Given the description of an element on the screen output the (x, y) to click on. 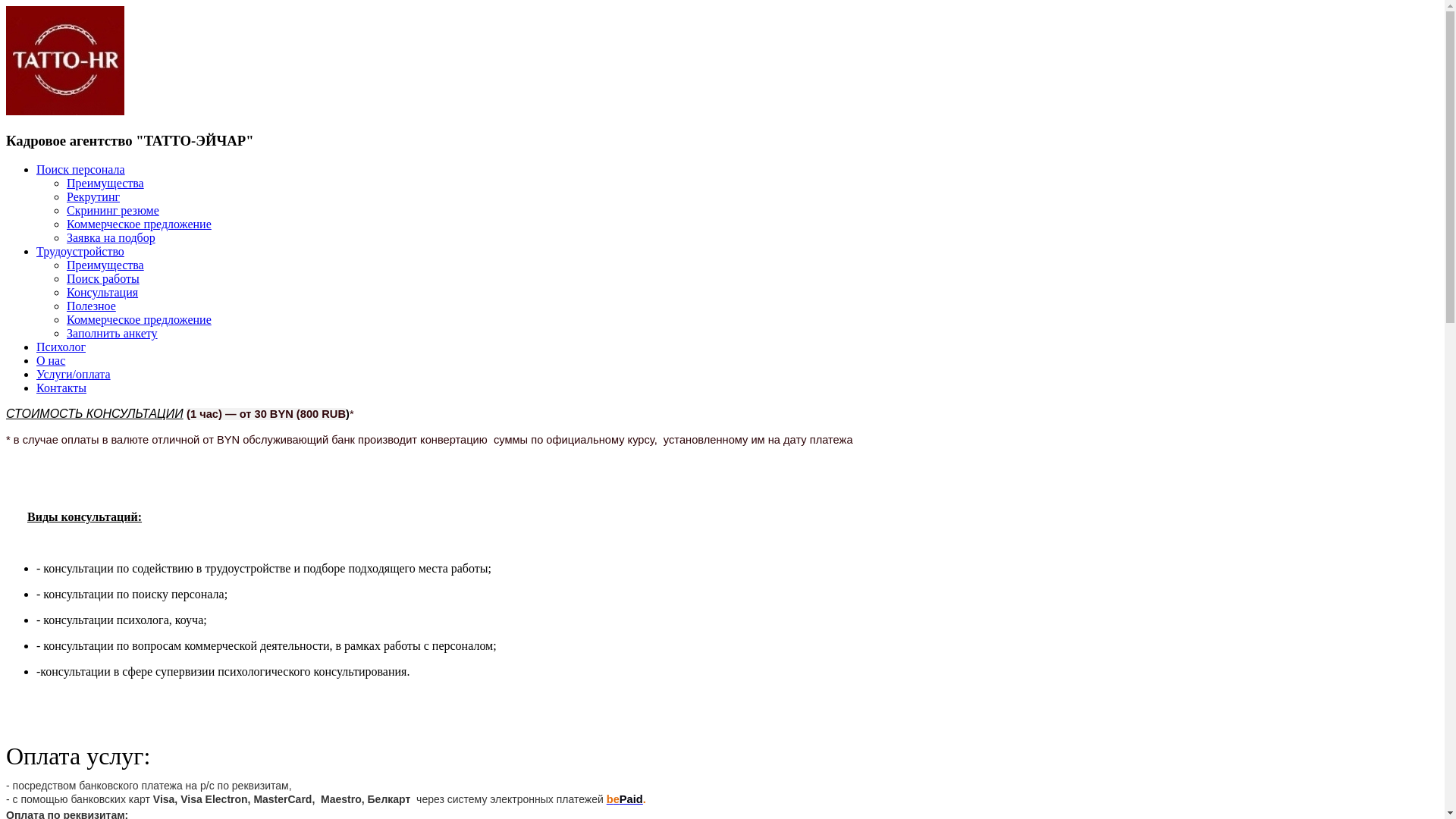
bePaid Element type: text (624, 799)
